Given the description of an element on the screen output the (x, y) to click on. 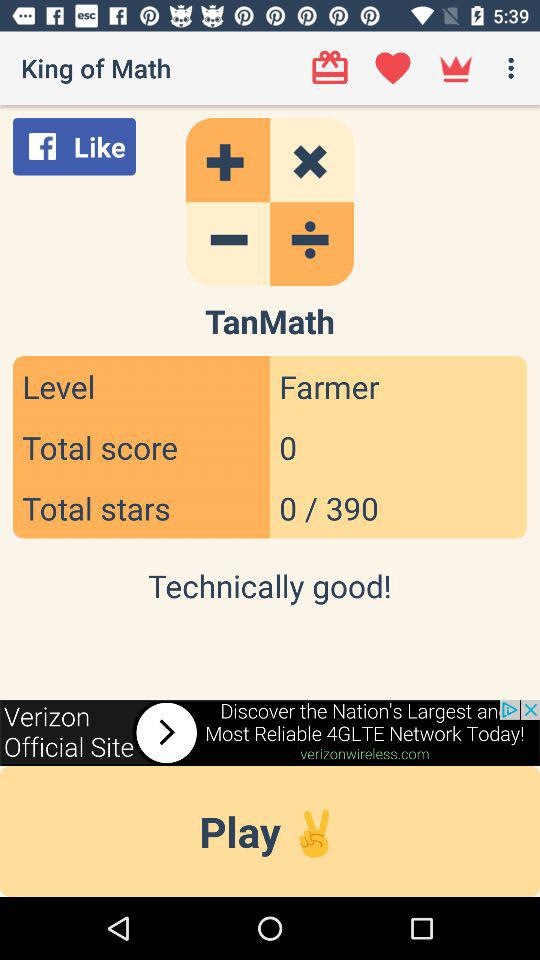
open the advertisement (270, 732)
